Given the description of an element on the screen output the (x, y) to click on. 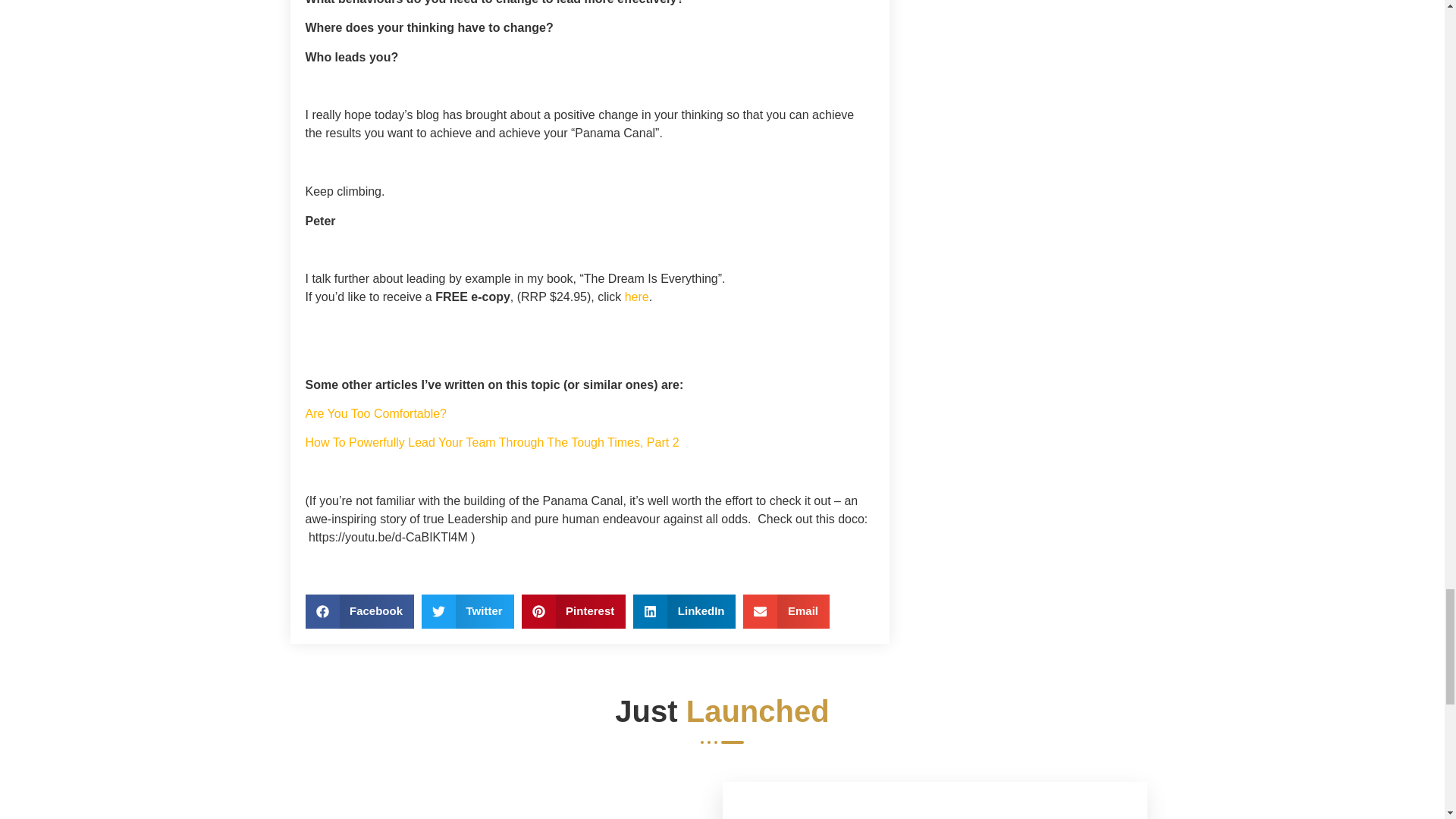
Are You Too Comfortable? (375, 413)
here (636, 296)
